Given the description of an element on the screen output the (x, y) to click on. 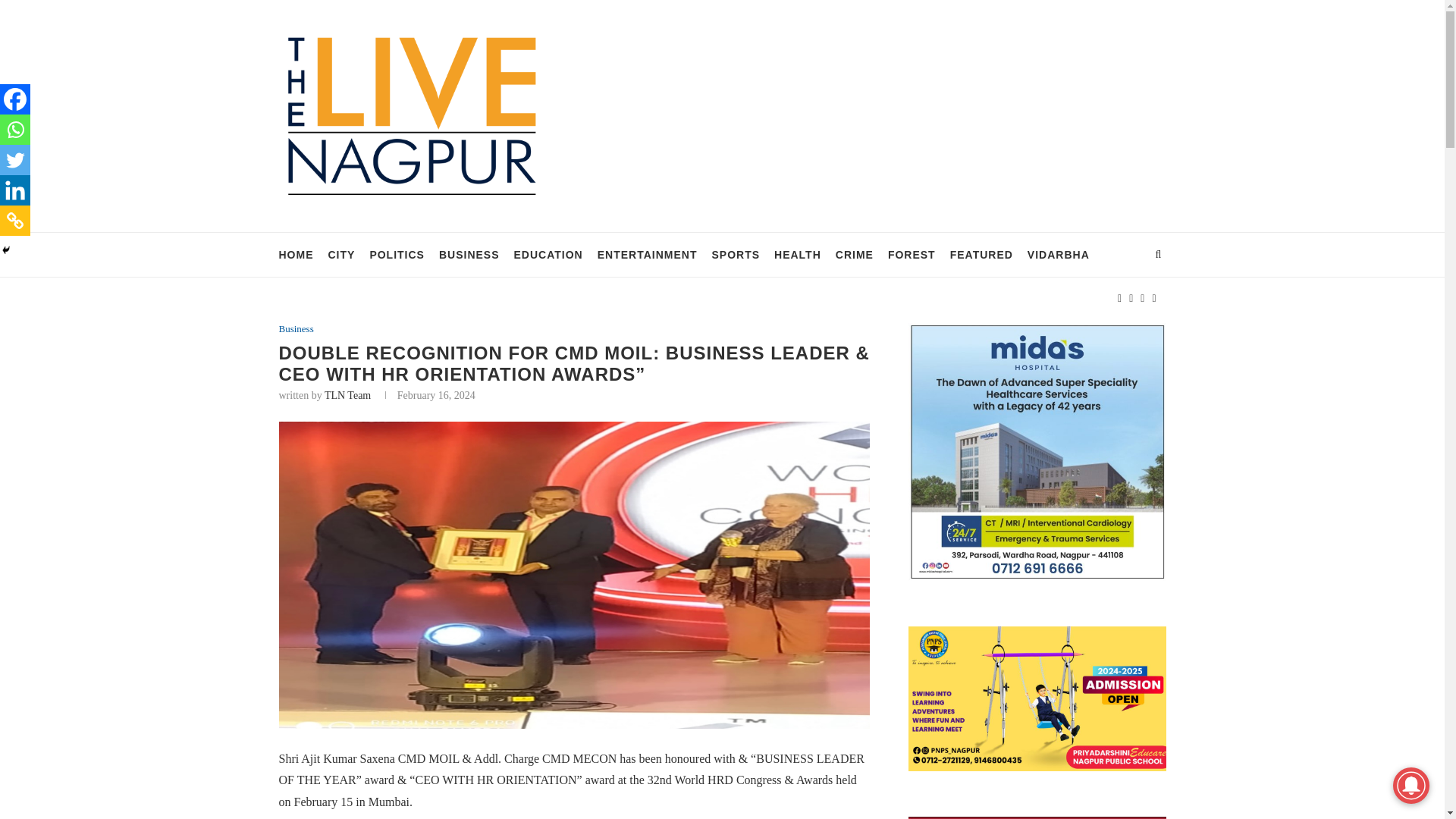
Whatsapp (15, 129)
ENTERTAINMENT (646, 254)
FEATURED (981, 254)
POLITICS (397, 254)
Business (296, 328)
Twitter (15, 159)
FOREST (912, 254)
Facebook (15, 99)
EDUCATION (548, 254)
Linkedin (15, 190)
Copy Link (15, 220)
Hide (5, 250)
SPORTS (735, 254)
VIDARBHA (1058, 254)
HEALTH (797, 254)
